Given the description of an element on the screen output the (x, y) to click on. 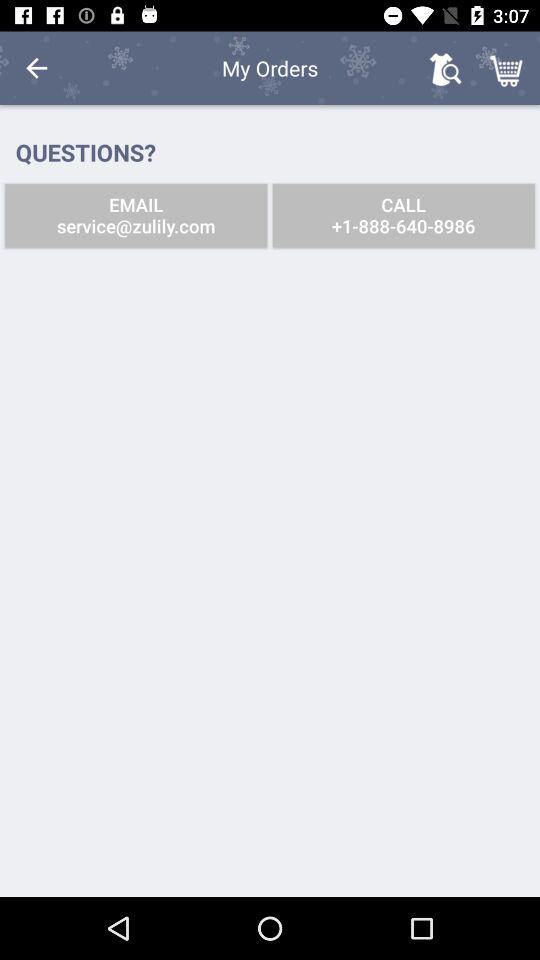
launch the item to the right of the email service zulily item (403, 215)
